Given the description of an element on the screen output the (x, y) to click on. 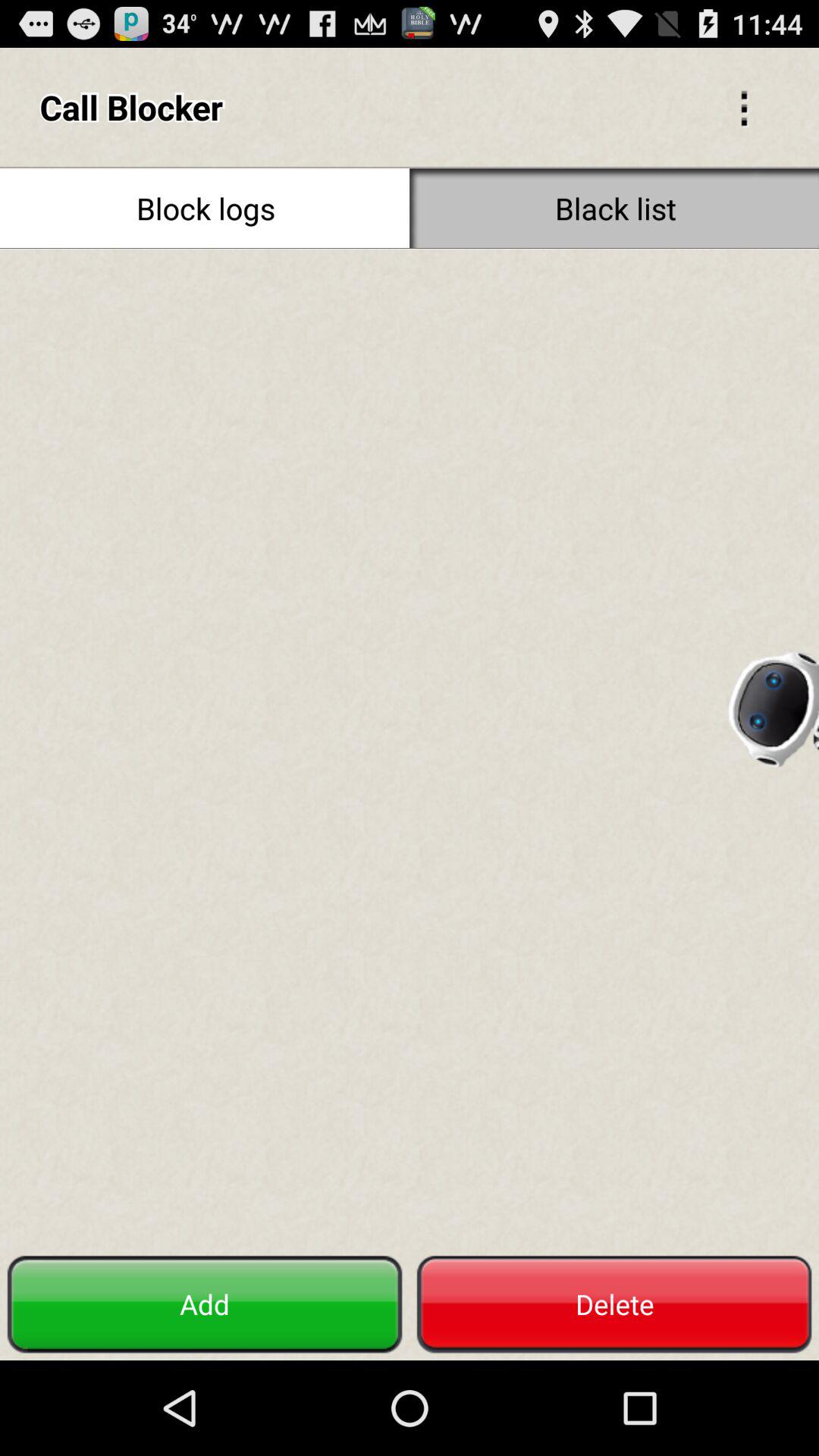
choose button next to the black list (204, 207)
